Given the description of an element on the screen output the (x, y) to click on. 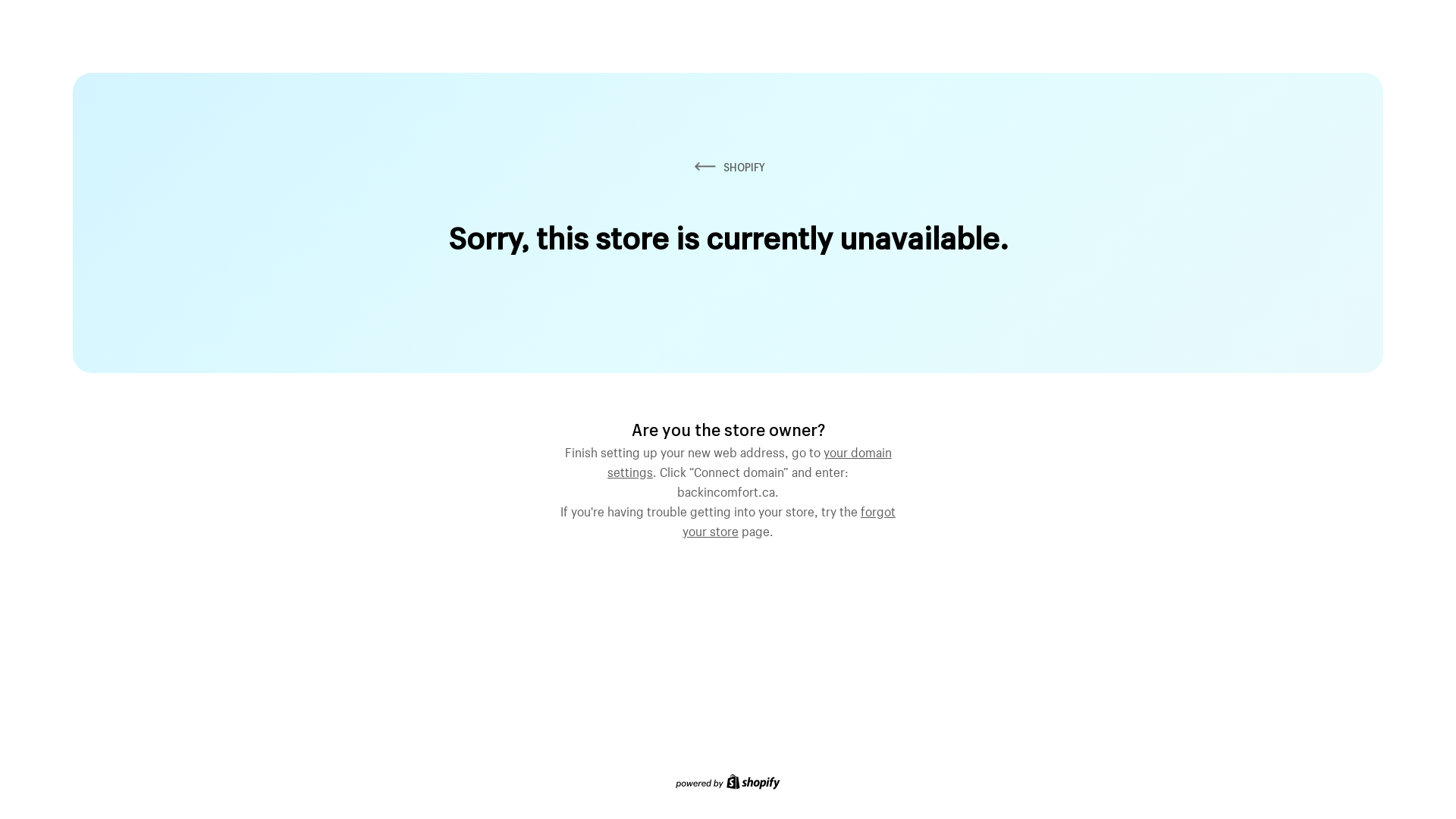
forgot your store Element type: text (788, 519)
SHOPIFY Element type: text (727, 167)
your domain settings Element type: text (749, 460)
